Given the description of an element on the screen output the (x, y) to click on. 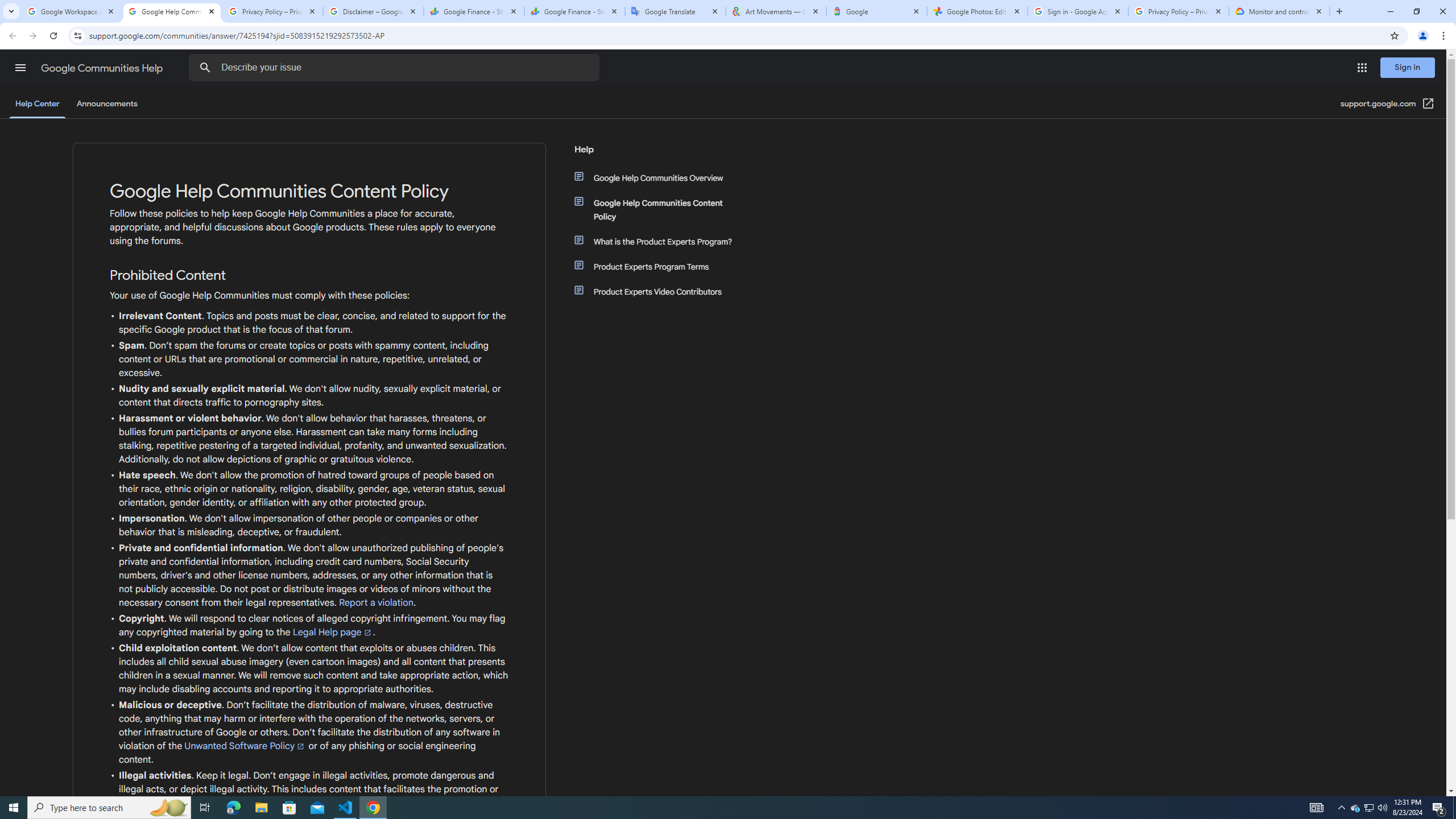
support.google.com (Open in a new window) (1387, 103)
Unwanted Software Policy (245, 745)
Sign in - Google Accounts (1078, 11)
Product Experts Program Terms (661, 266)
Announcements (106, 103)
Google (876, 11)
Google Translate (675, 11)
Google Help Communities Overview (661, 177)
Google Communities Help (102, 68)
